Given the description of an element on the screen output the (x, y) to click on. 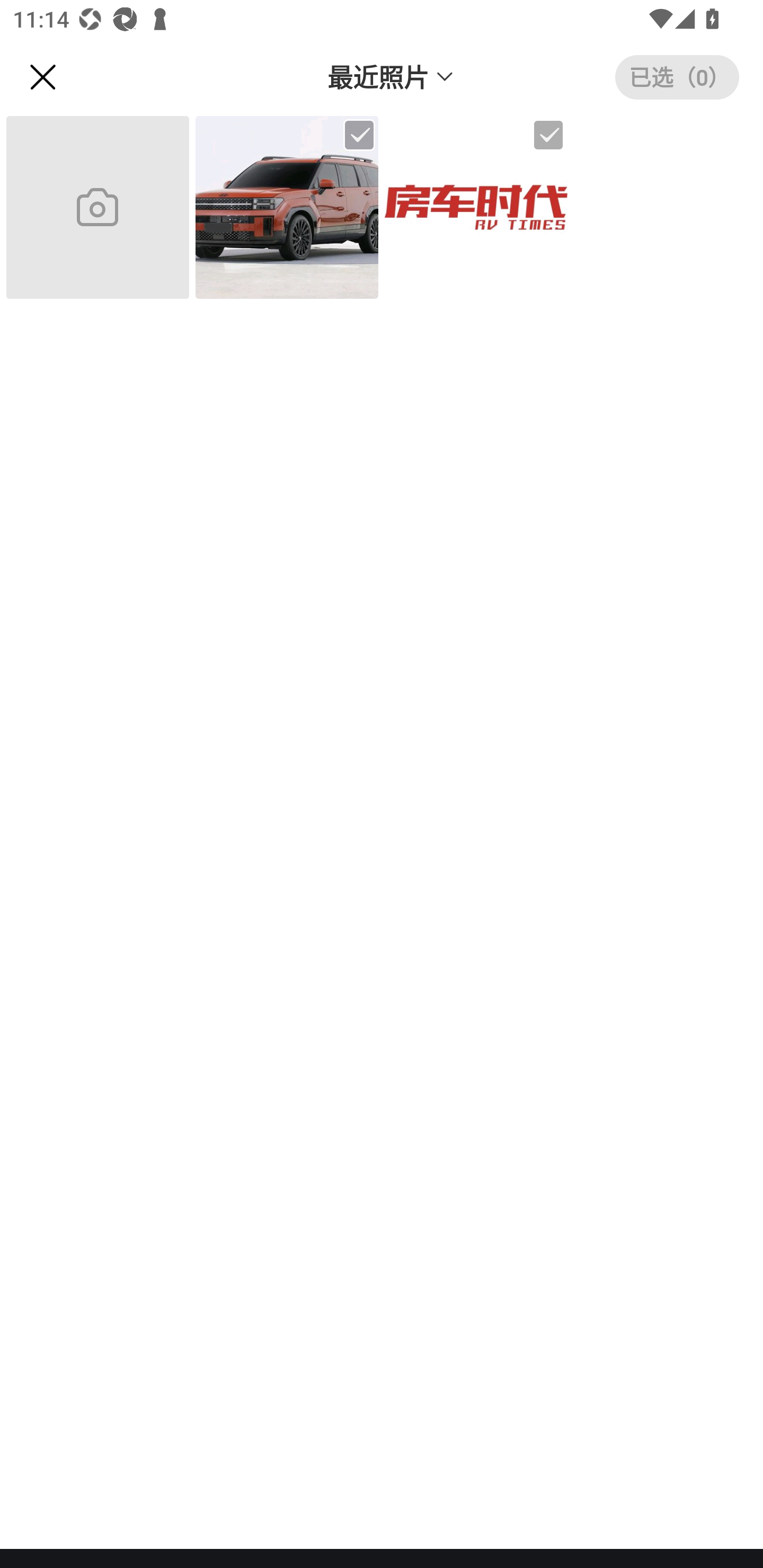
 已选（0） (676, 77)
最近照片 (390, 76)
